Given the description of an element on the screen output the (x, y) to click on. 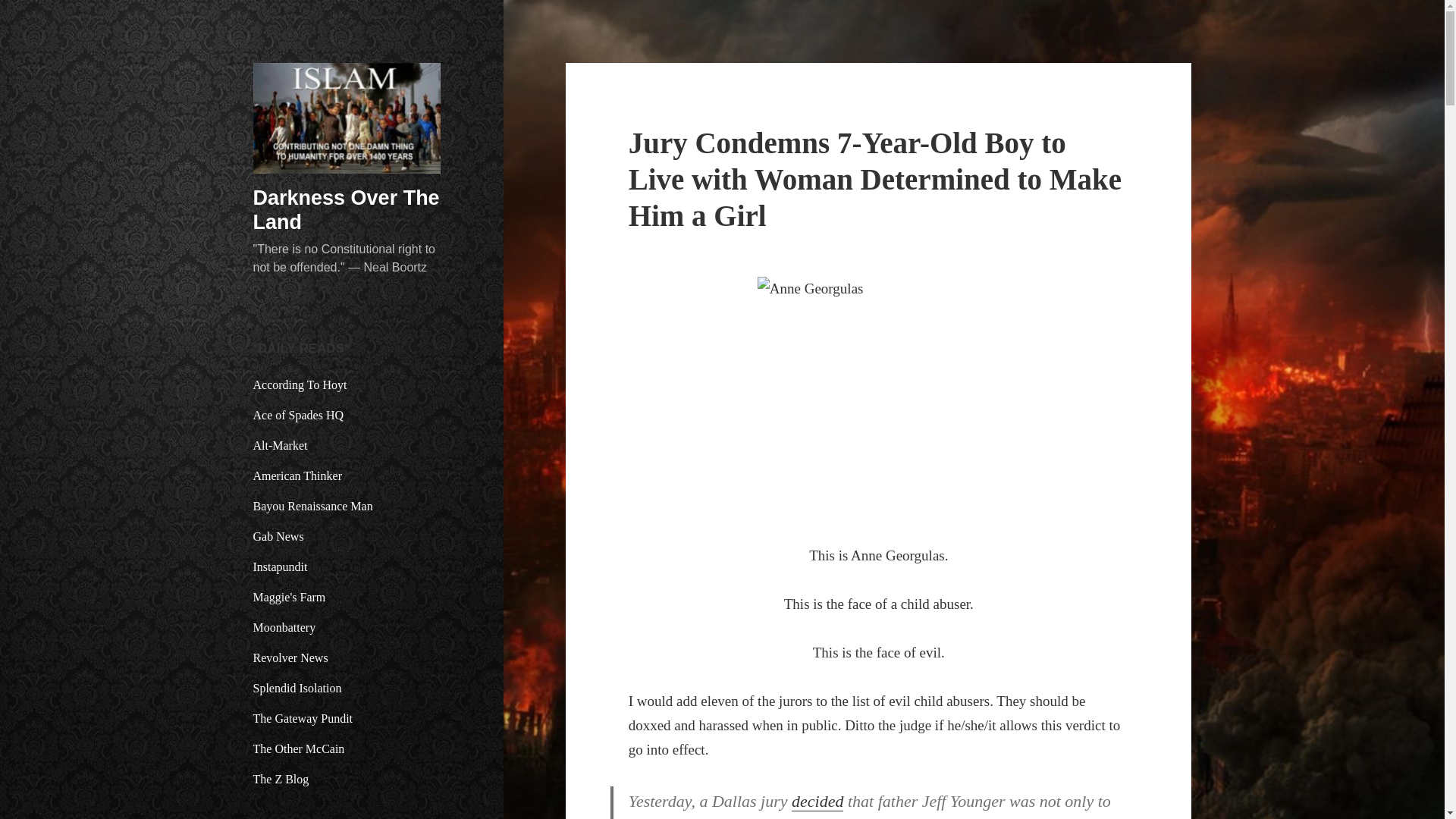
American Thinker (297, 475)
Gab News (278, 535)
Bayou Renaissance Man (312, 505)
Alt-Market (280, 445)
Darkness Over The Land (346, 209)
Maggie's Farm (289, 596)
Moonbattery (284, 626)
The Z Blog (280, 779)
The Gateway Pundit (303, 717)
Revolver News (291, 657)
Instapundit (280, 566)
Splendid Isolation (297, 687)
Ace of Spades HQ (298, 414)
The Other McCain (299, 748)
